Given the description of an element on the screen output the (x, y) to click on. 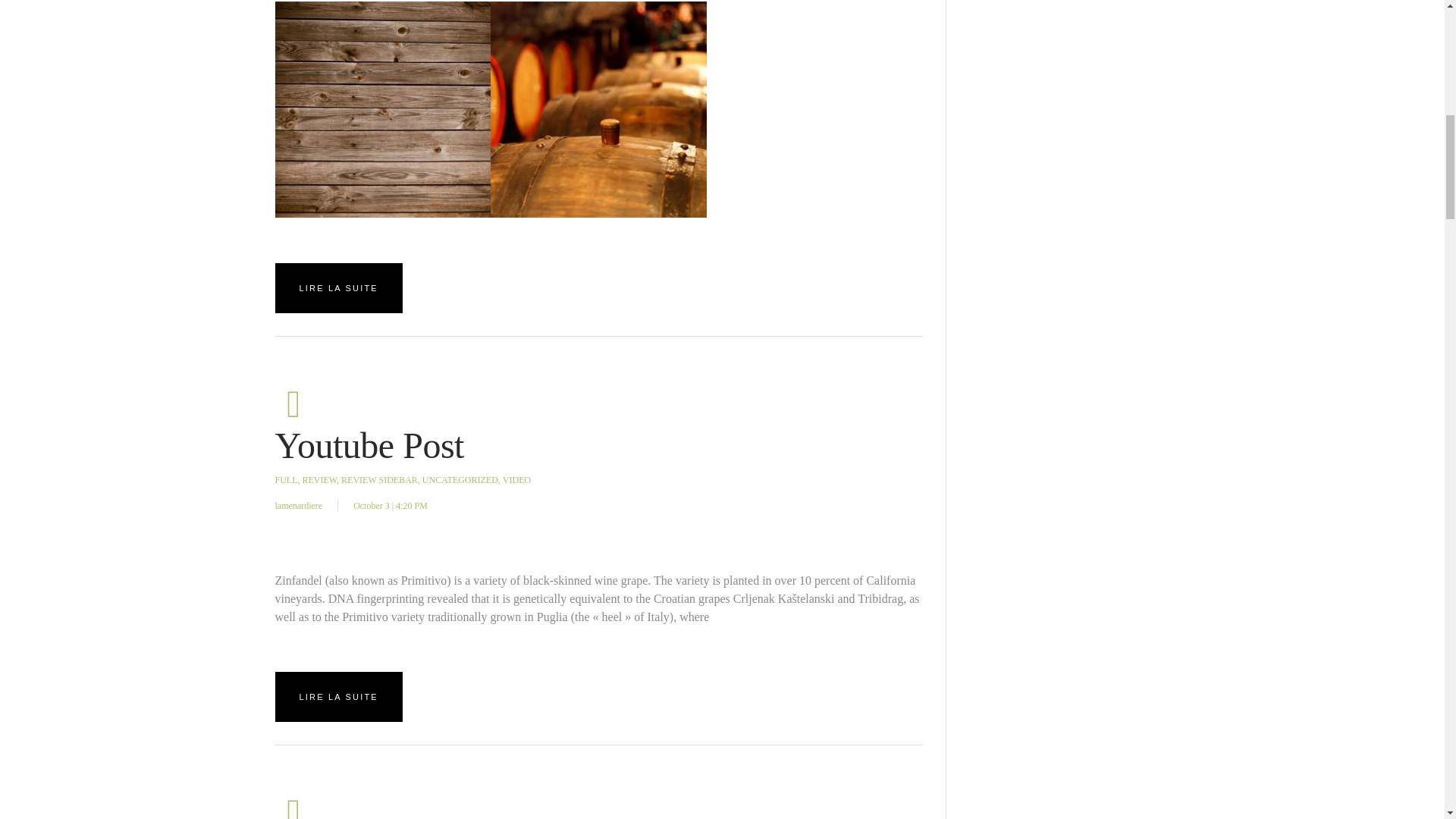
UNCATEGORIZED, (461, 479)
LIRE LA SUITE (338, 287)
lamenardiere (298, 505)
REVIEW SIDEBAR, (380, 479)
FULL, (287, 479)
REVIEW, (320, 479)
VIDEO (516, 479)
Youtube Post (369, 445)
